Given the description of an element on the screen output the (x, y) to click on. 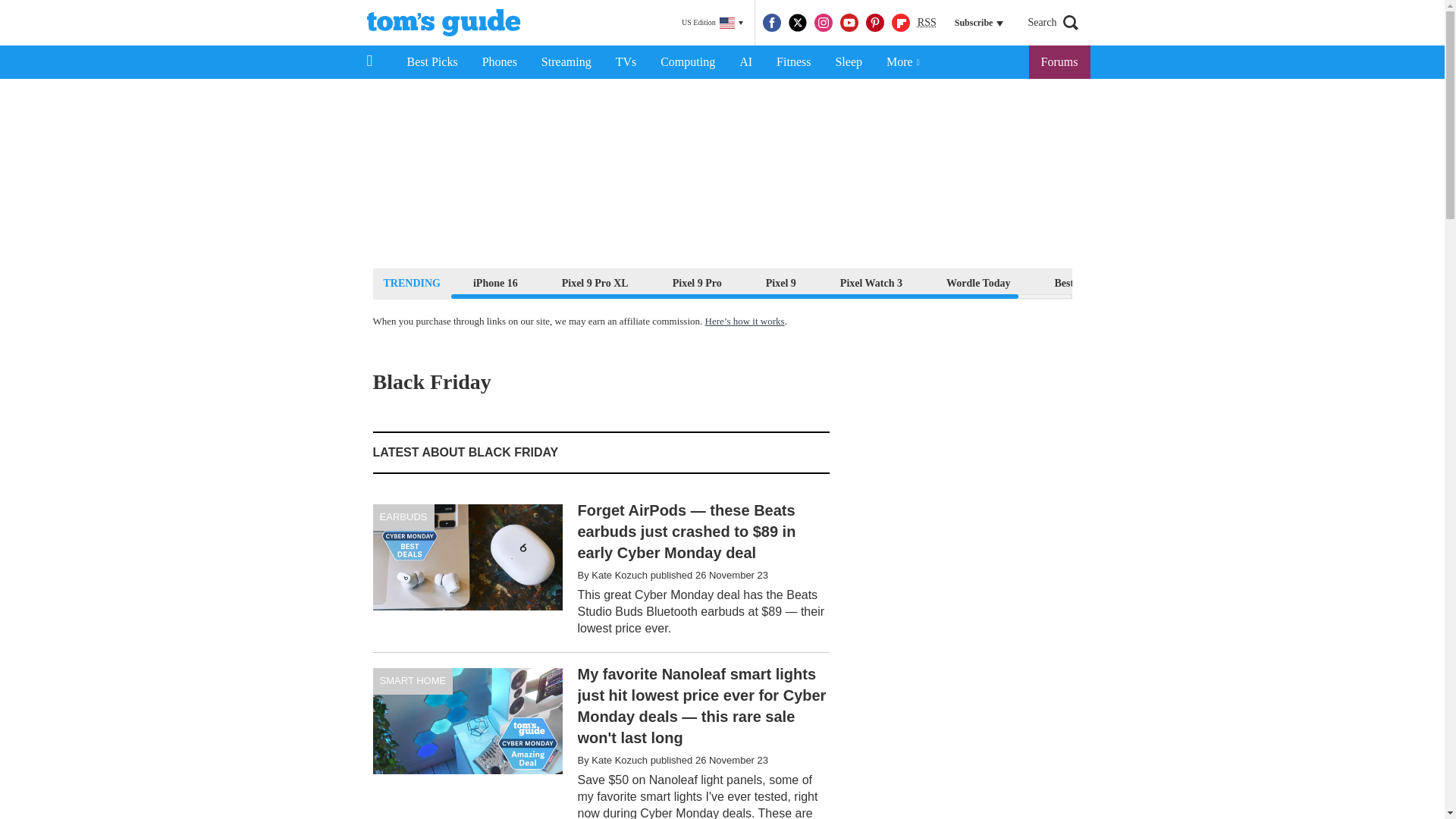
TVs (626, 61)
US Edition (712, 22)
Sleep (848, 61)
Fitness (793, 61)
Really Simple Syndication (926, 21)
AI (745, 61)
RSS (926, 22)
Best Picks (431, 61)
Phones (499, 61)
Streaming (566, 61)
